Given the description of an element on the screen output the (x, y) to click on. 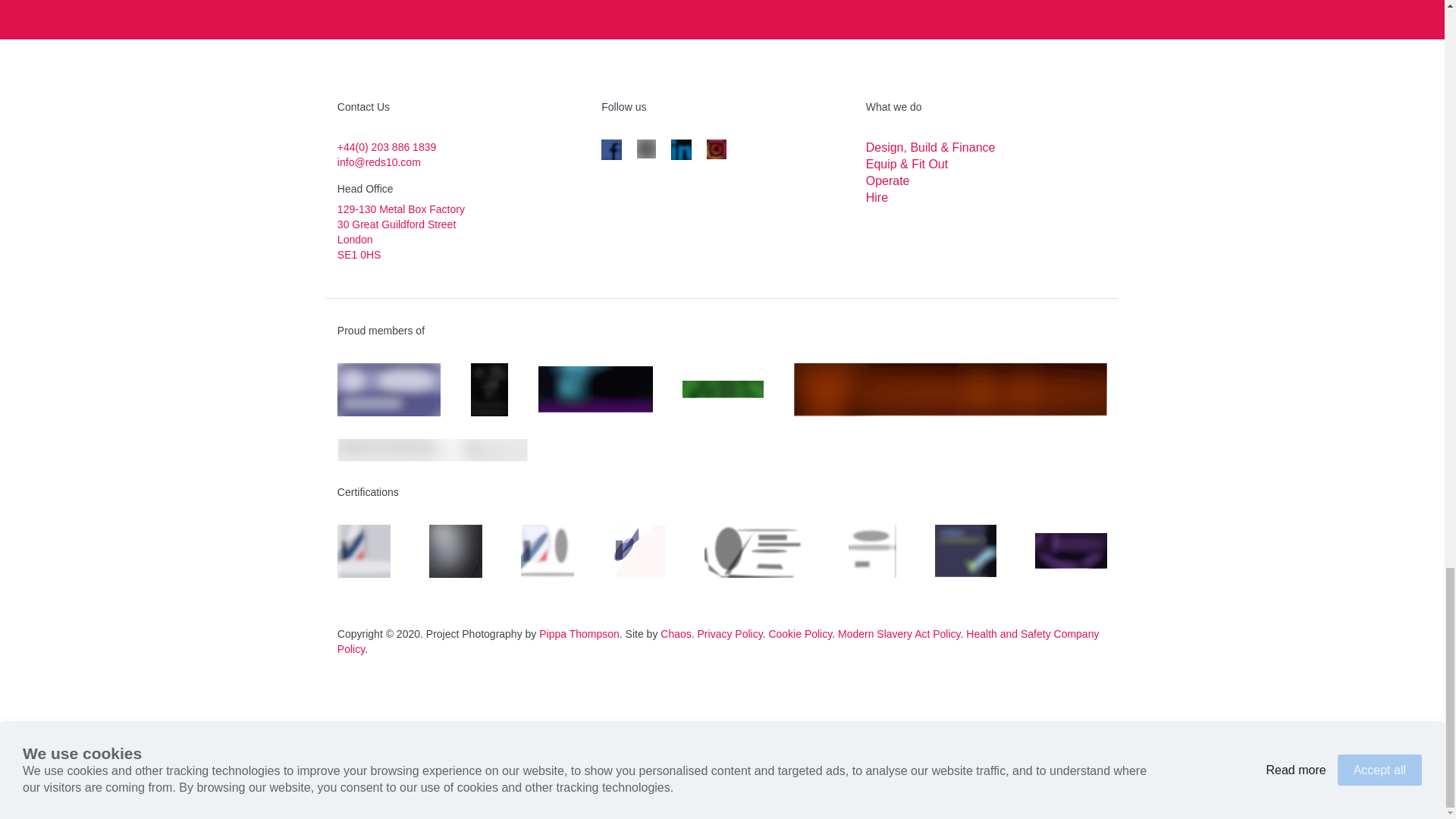
Email us (378, 162)
Phone us (386, 146)
